Given the description of an element on the screen output the (x, y) to click on. 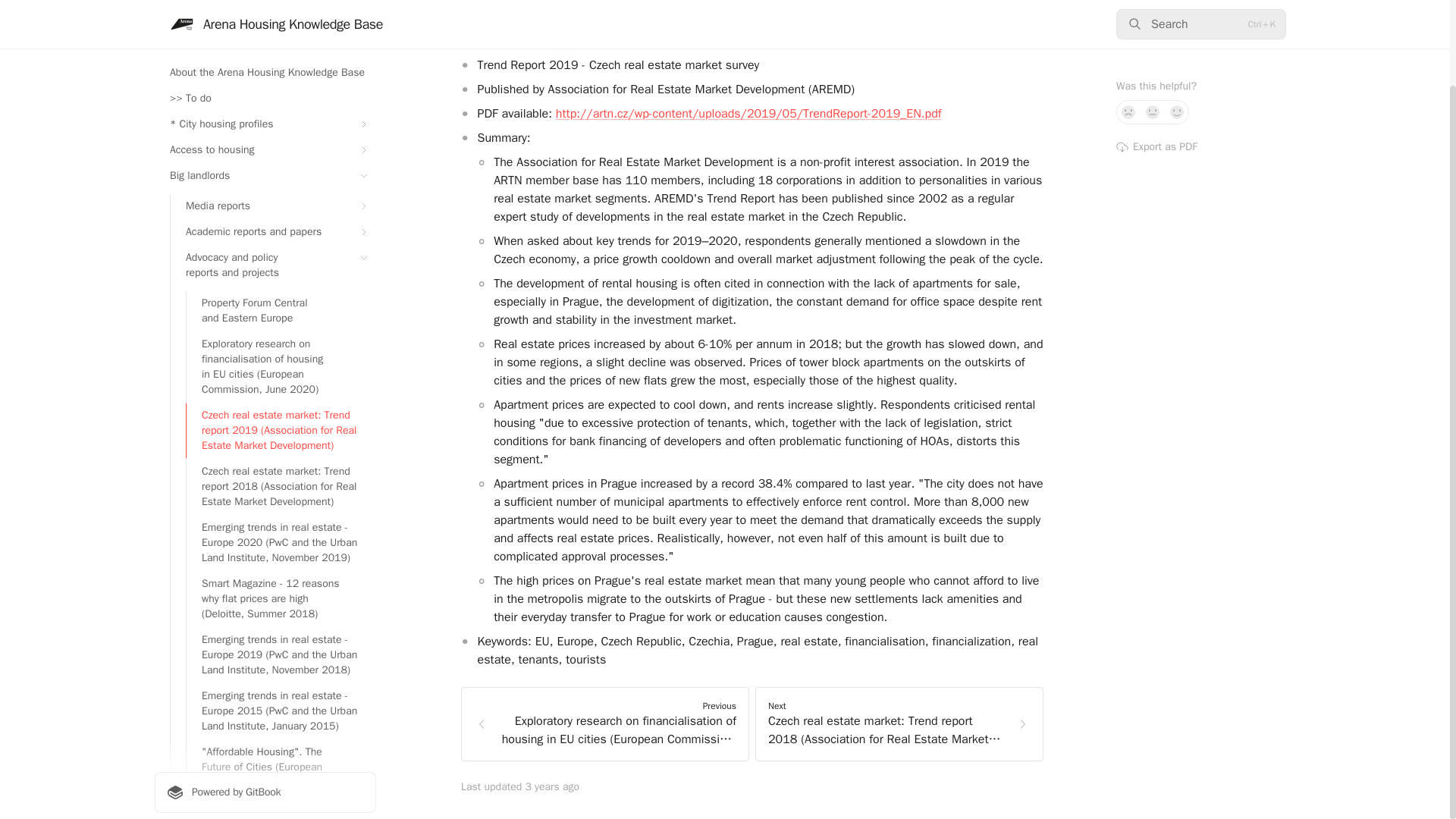
Yes, it was! (1176, 16)
Access to housing (264, 54)
Not sure (1152, 16)
No (1128, 16)
